Given the description of an element on the screen output the (x, y) to click on. 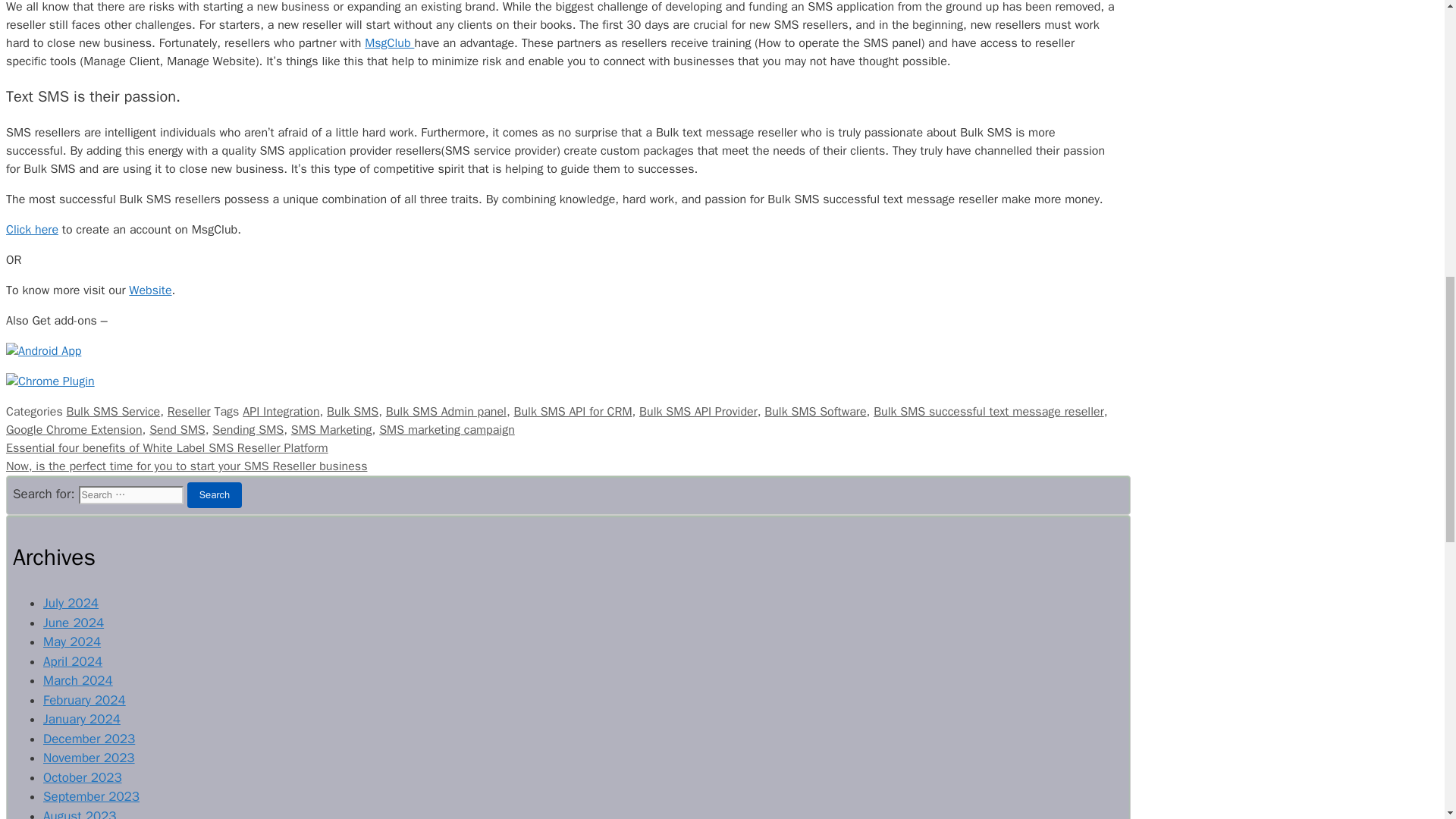
Bulk SMS Service (113, 411)
Website (150, 290)
Bulk SMS API Provider (698, 411)
Bulk SMS (352, 411)
June 2024 (73, 622)
Click here (31, 229)
Bulk SMS Software (815, 411)
Search (214, 494)
API Integration (280, 411)
Send SMS (177, 429)
February 2024 (84, 700)
Google Chrome Extension (73, 429)
MsgClub (389, 43)
Bulk SMS Admin panel (445, 411)
Bulk SMS API for CRM (572, 411)
